Given the description of an element on the screen output the (x, y) to click on. 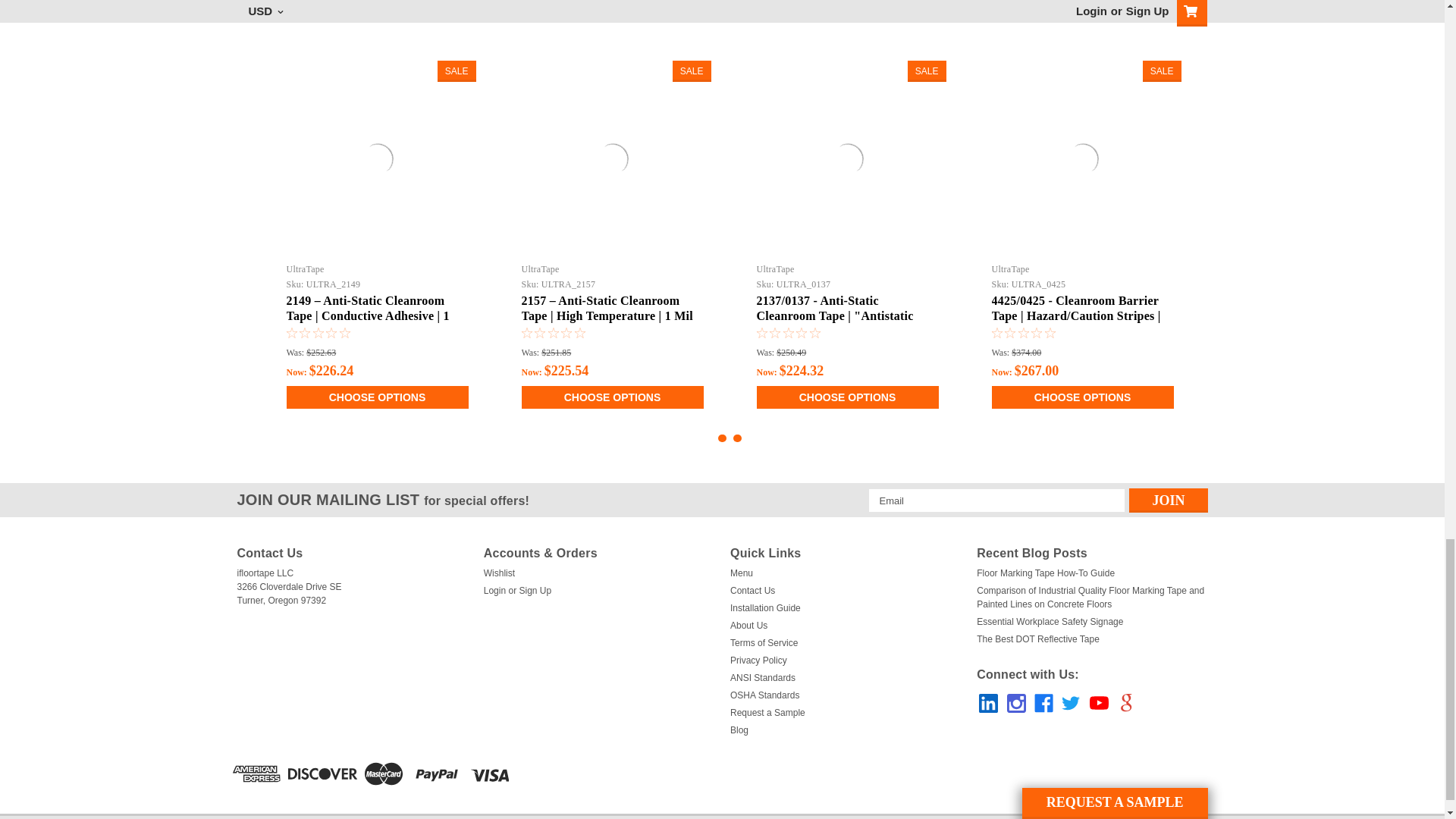
Join (1168, 500)
